Given the description of an element on the screen output the (x, y) to click on. 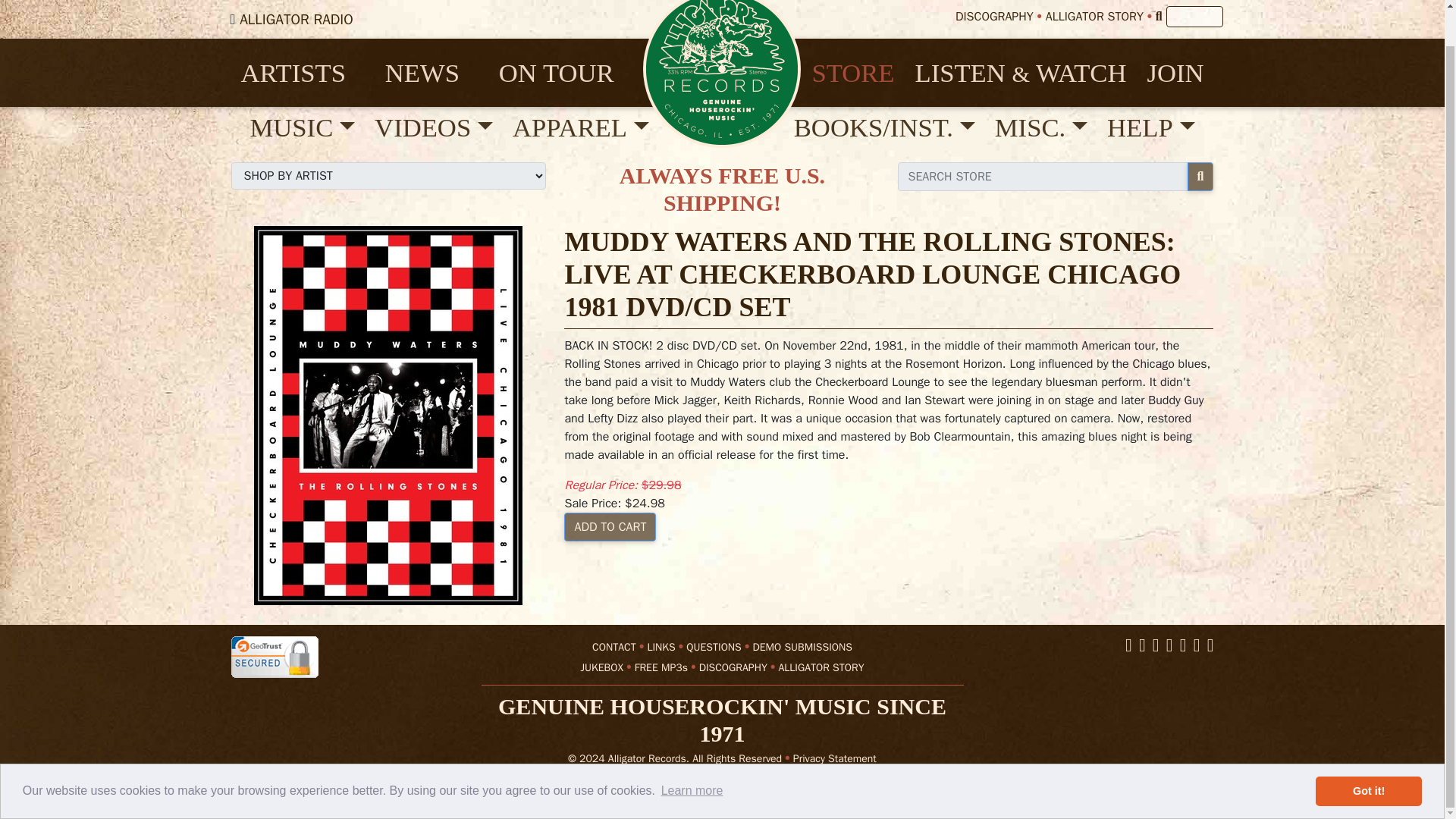
ALLIGATOR STORY (1093, 16)
Alligator Records (721, 72)
Got it! (1369, 754)
NEWS (431, 72)
DISCOGRAPHY (994, 16)
Learn more (691, 753)
GeoTrust (273, 657)
JOIN (1174, 72)
ARTISTS (302, 72)
ON TOUR (566, 72)
STORE (852, 72)
ALLIGATOR RADIO (296, 18)
